Given the description of an element on the screen output the (x, y) to click on. 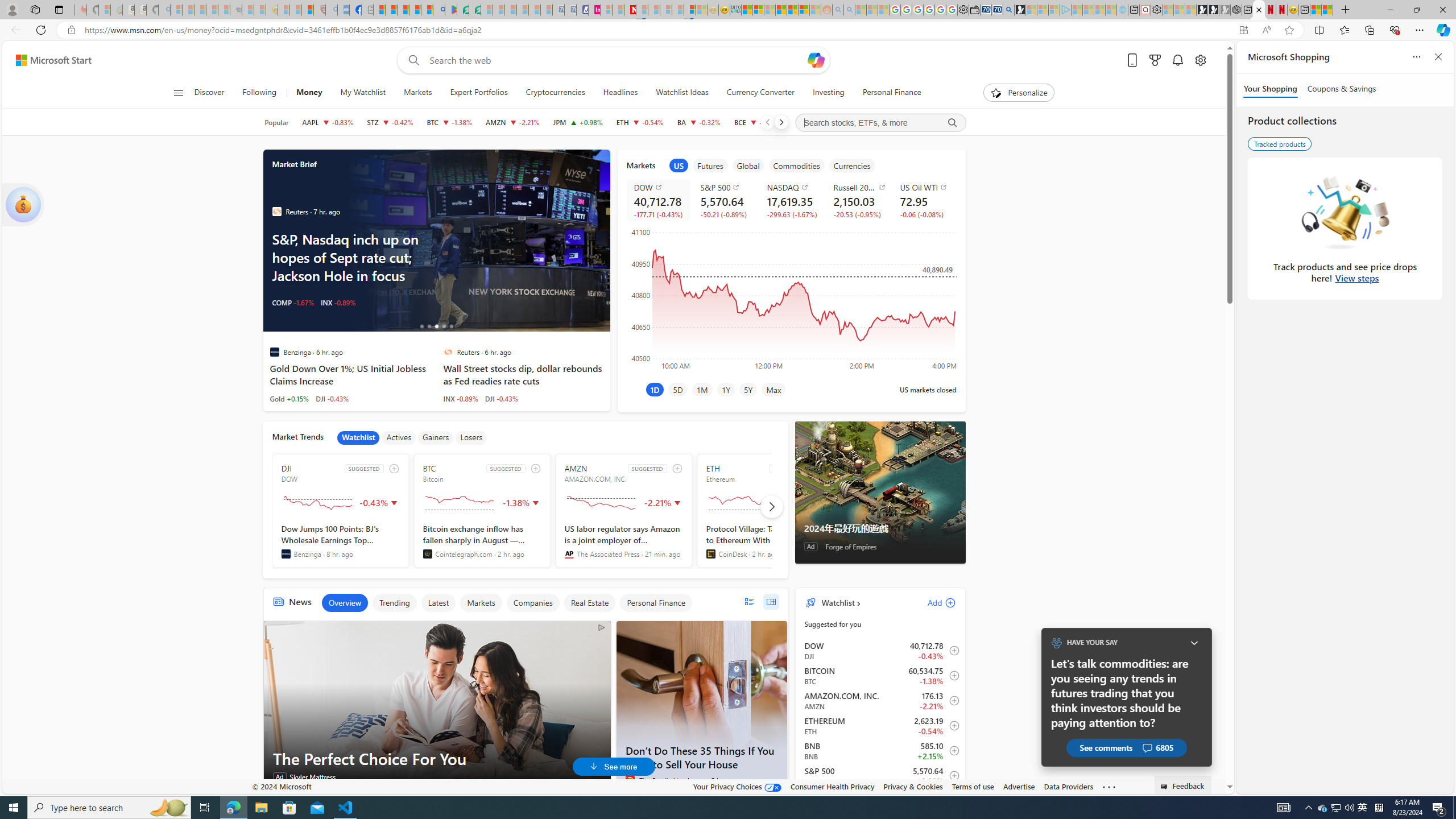
Latest (437, 602)
Add (932, 602)
grid layout (770, 601)
BTC Bitcoin decrease 60,534.75 -837.20 -1.38% (449, 122)
INX S&P 500 decrease 5,570.64 -50.21 -0.89% item5 (880, 775)
AMZN SUGGESTED AMAZON.COM, INC. (623, 510)
item1 (678, 164)
